Given the description of an element on the screen output the (x, y) to click on. 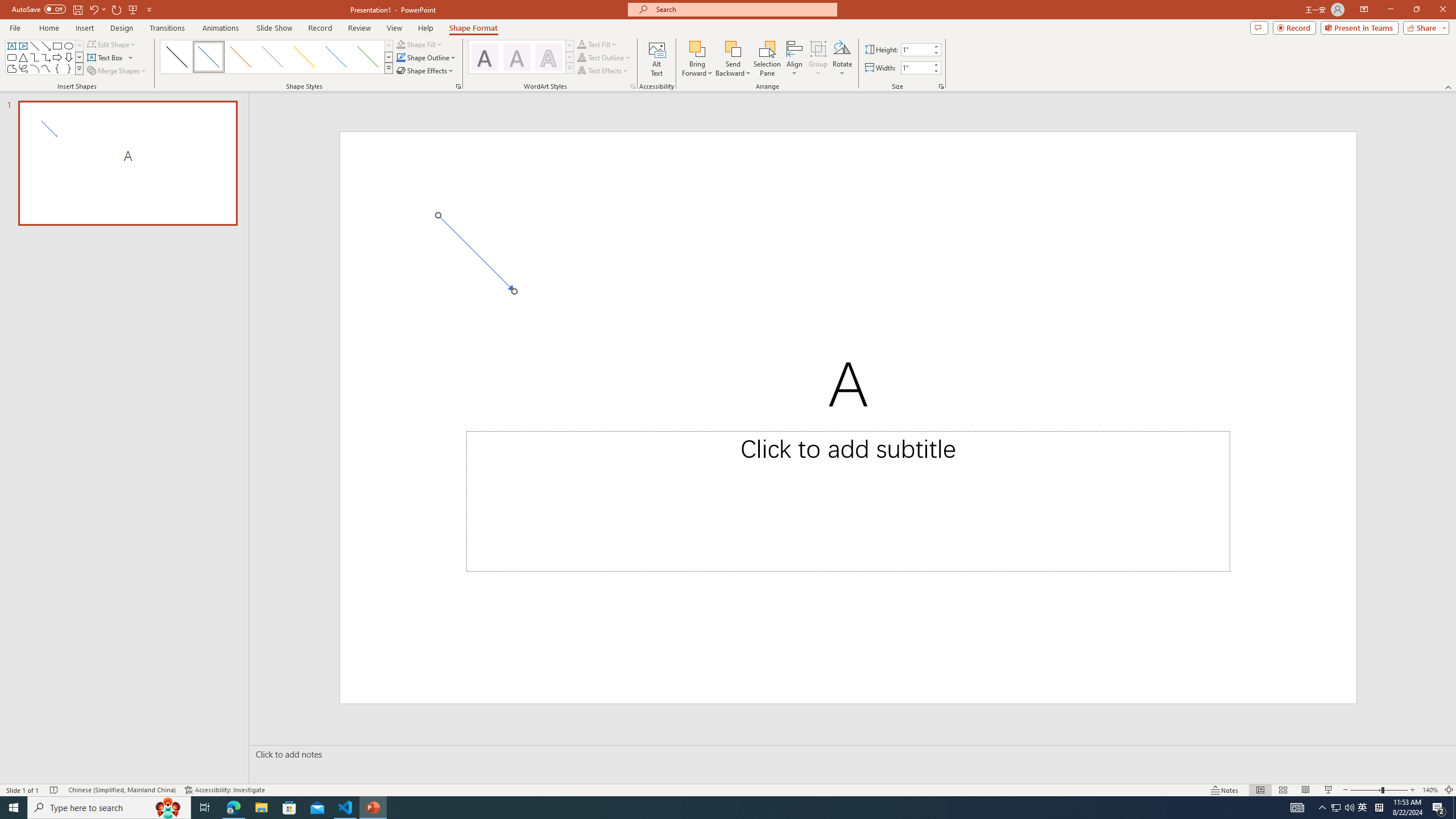
Subtle Line - Accent 2 (240, 56)
